Given the description of an element on the screen output the (x, y) to click on. 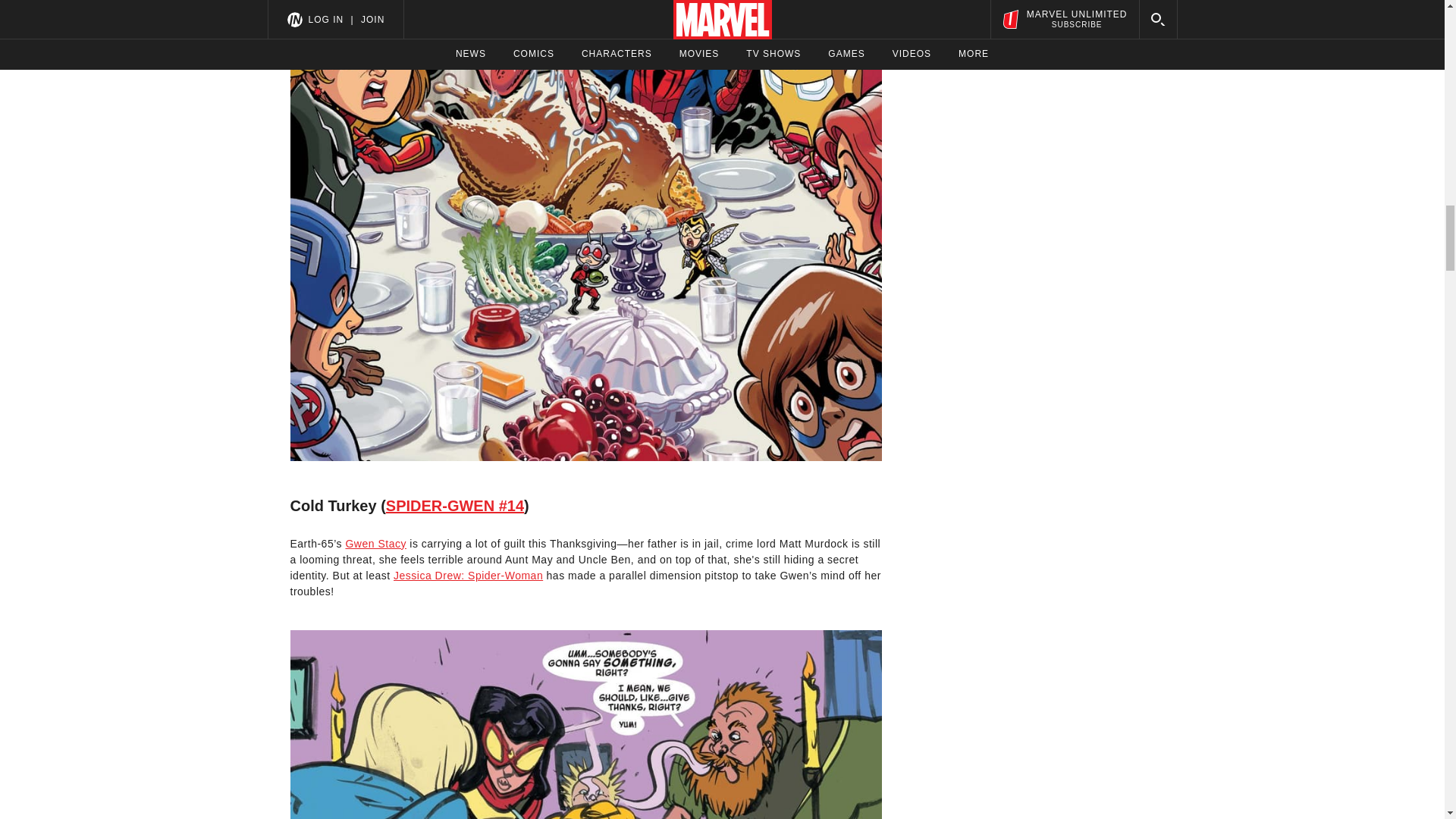
Jessica Drew: Spider-Woman (468, 575)
Gwen Stacy (375, 543)
